Given the description of an element on the screen output the (x, y) to click on. 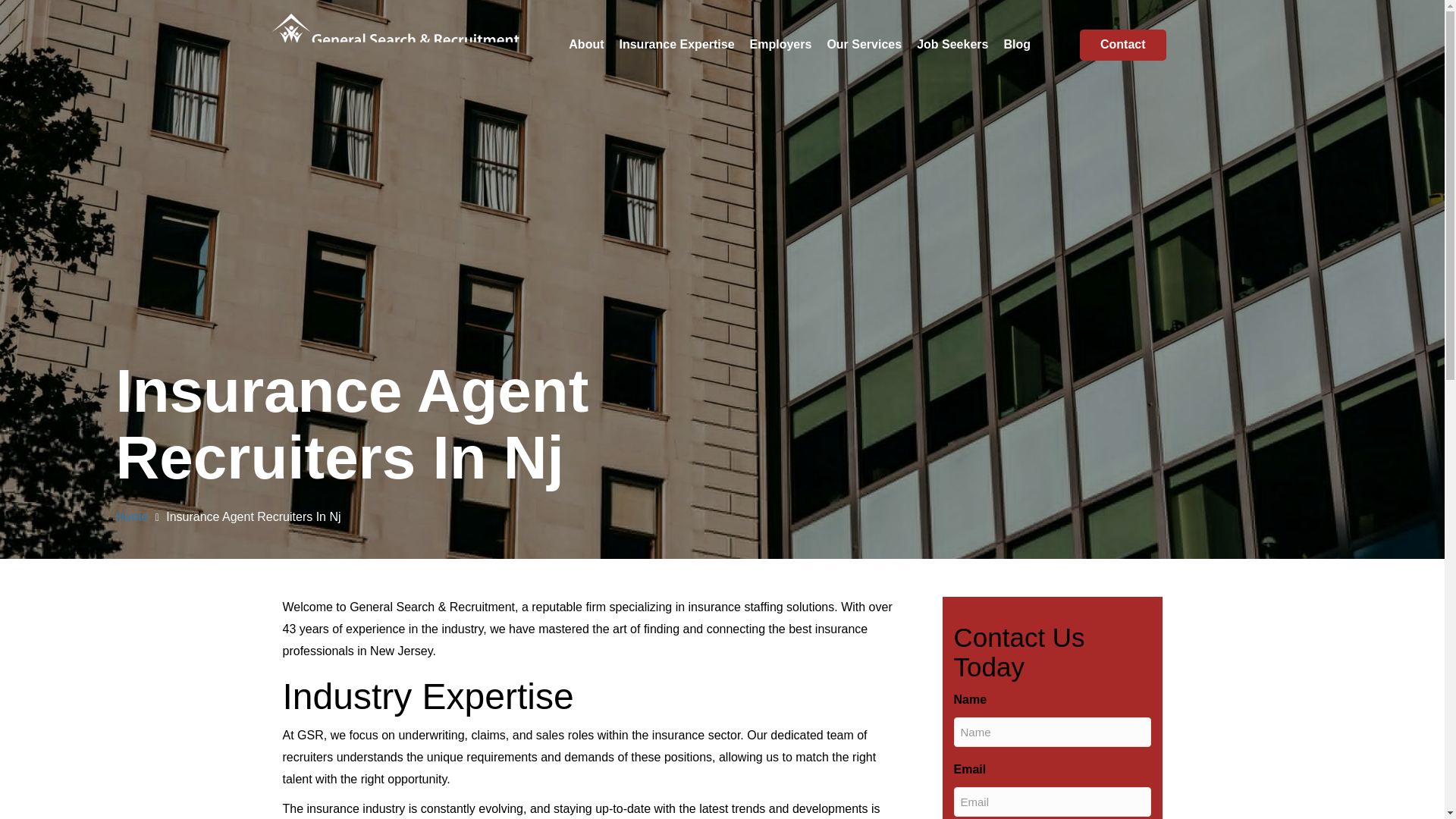
Blog (1016, 44)
Job Seekers (951, 44)
Home (131, 516)
Employers (780, 44)
Our Services (863, 44)
Contact (1123, 44)
GSR-Logo (394, 37)
About (585, 44)
Insurance Expertise (676, 44)
